Given the description of an element on the screen output the (x, y) to click on. 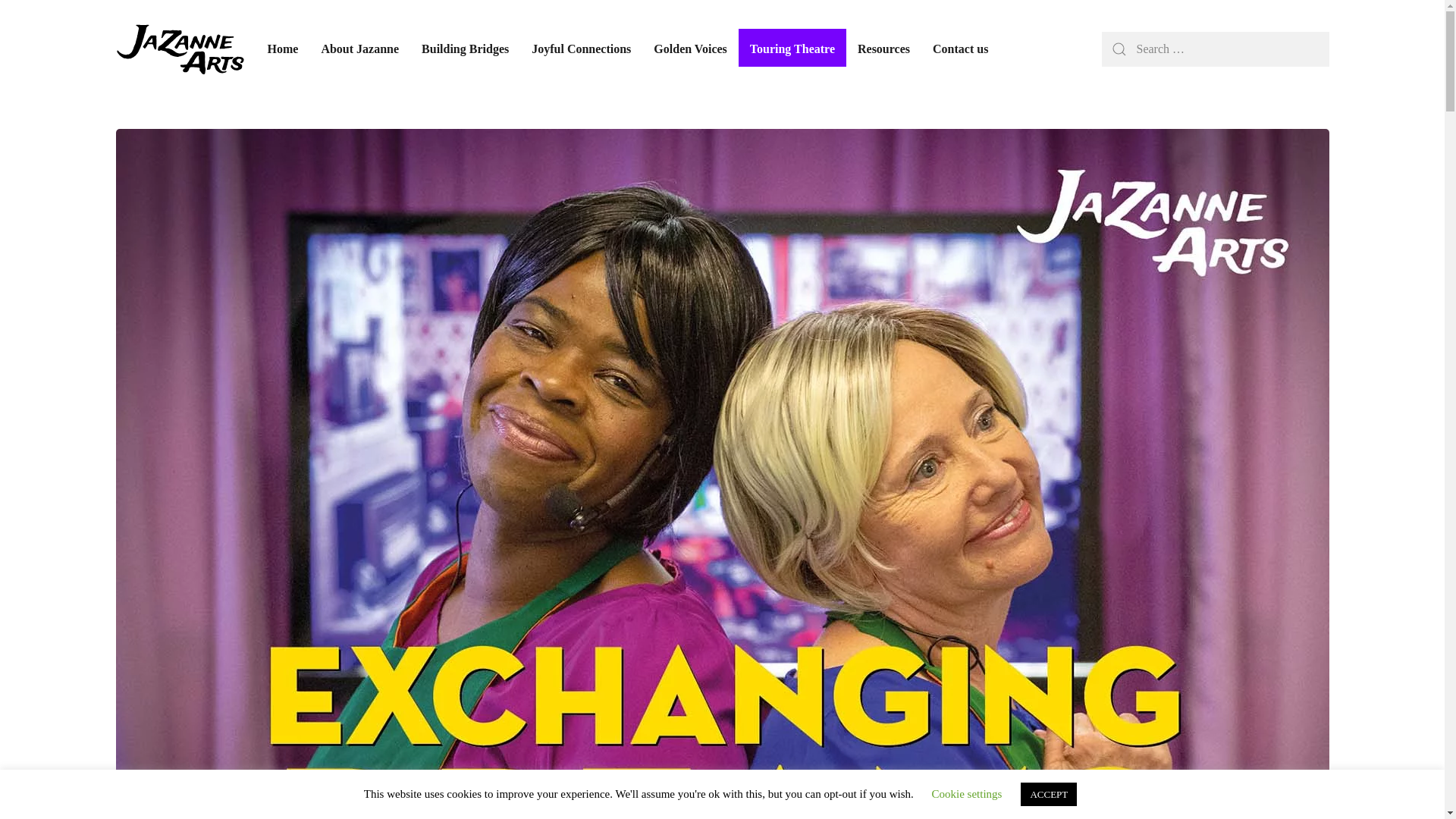
About Jazanne (359, 49)
